Given the description of an element on the screen output the (x, y) to click on. 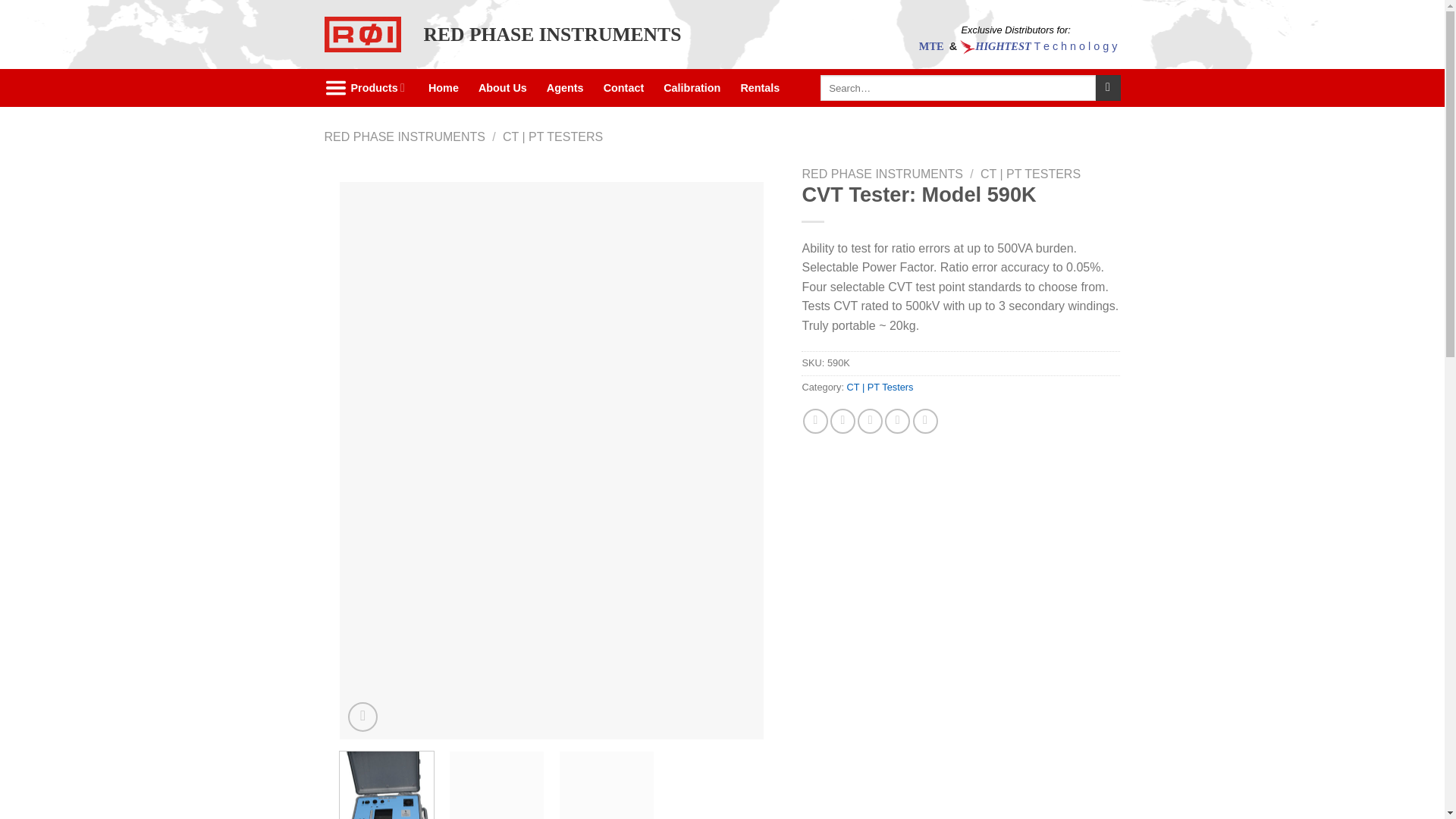
Zoom (362, 716)
Share on LinkedIn (924, 421)
Products (366, 87)
Pin on Pinterest (897, 421)
Share on Twitter (842, 421)
Share on Facebook (815, 421)
Email to a Friend (869, 421)
